Given the description of an element on the screen output the (x, y) to click on. 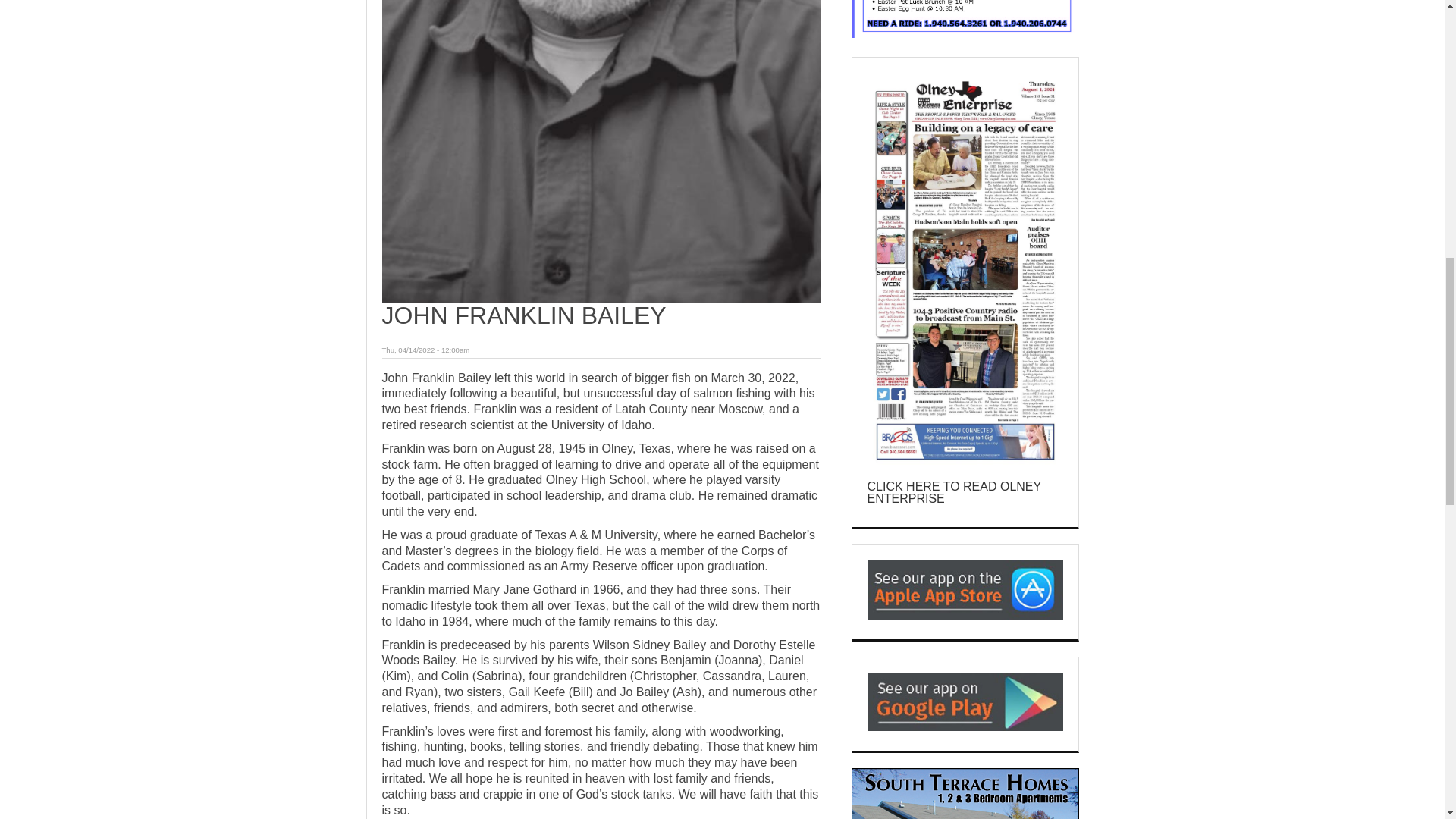
OBITUARIES (411, 786)
Tweets by OlneyEnterprise (939, 86)
The latest weather for olney (964, 21)
